Given the description of an element on the screen output the (x, y) to click on. 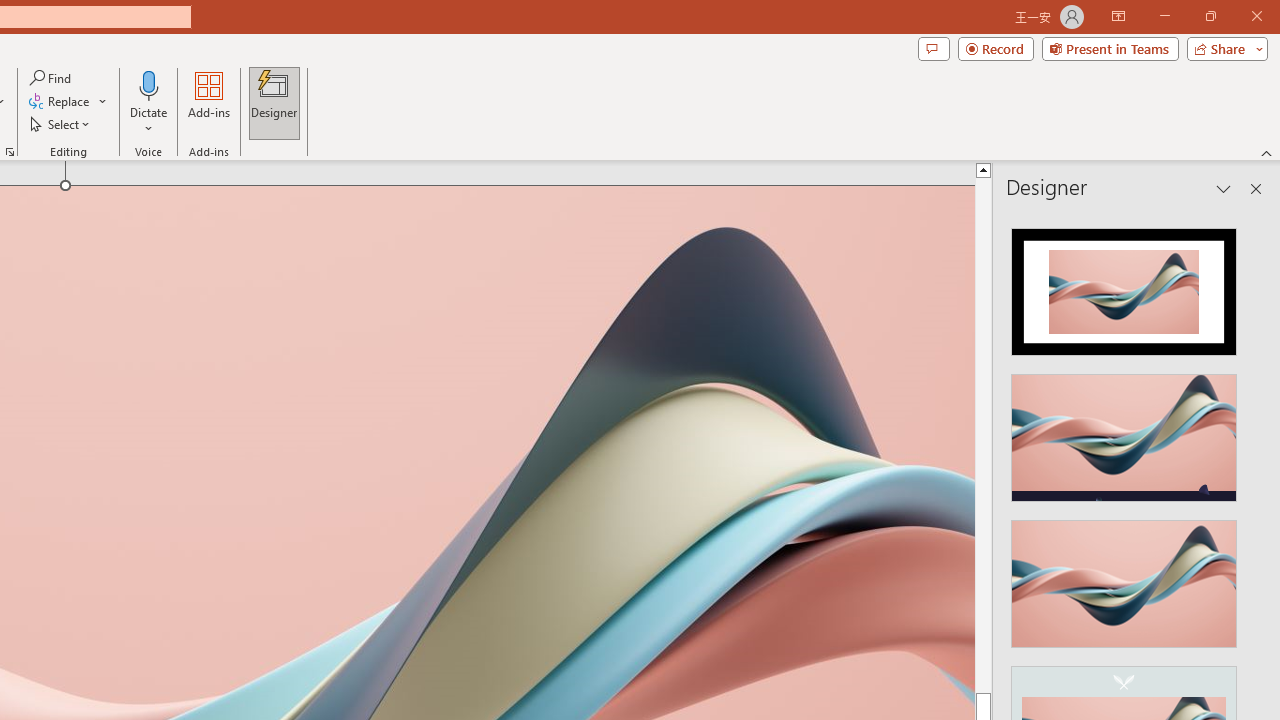
Find Next (127, 595)
Recommended Design: Design Idea (1124, 286)
Replace All (127, 674)
